Given the description of an element on the screen output the (x, y) to click on. 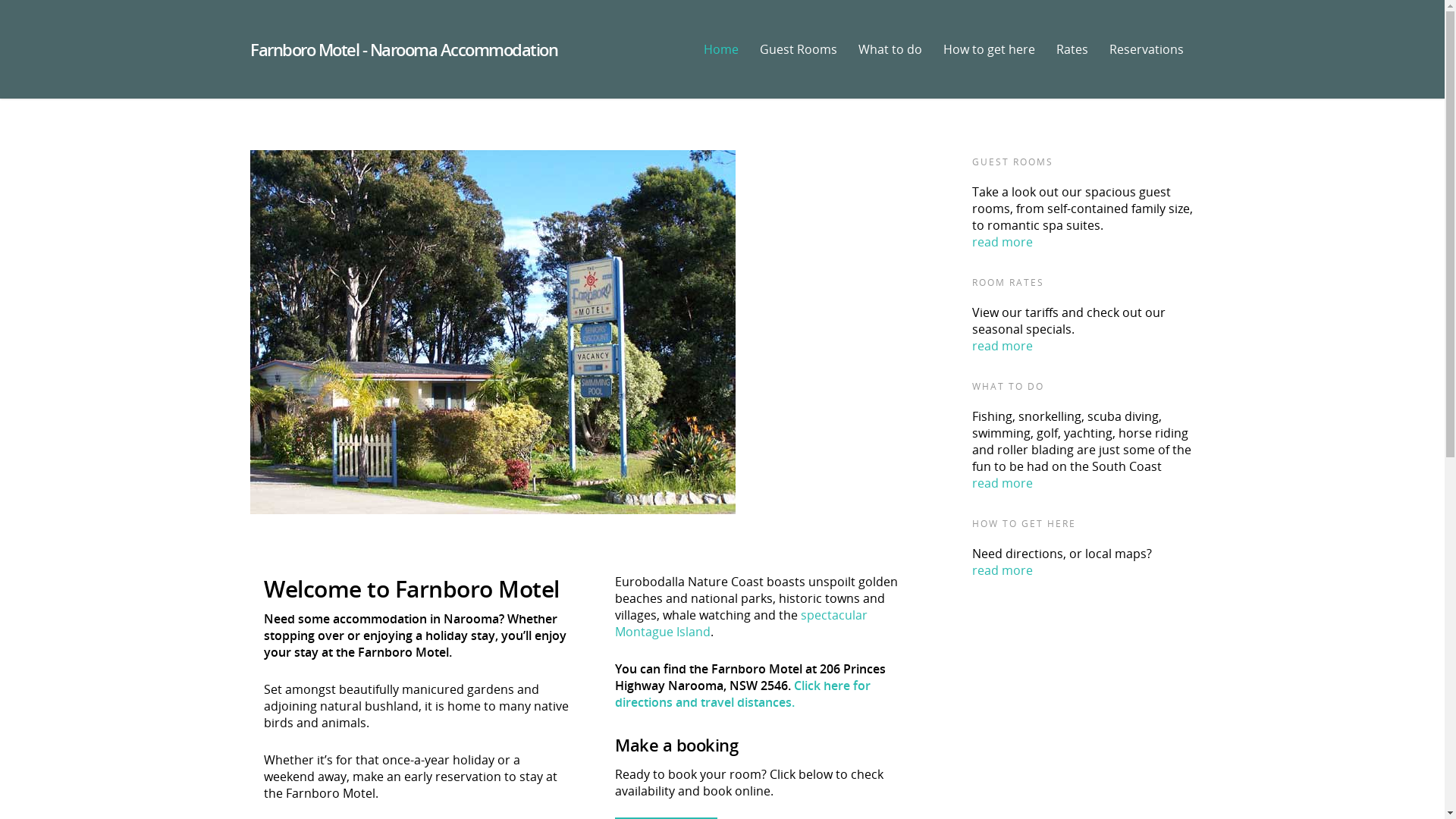
Rates Element type: text (1072, 67)
How to get here Element type: text (988, 67)
Reservations Element type: text (1146, 67)
Home Element type: text (720, 67)
What to do Element type: text (889, 67)
Farnboro Motel - Narooma Accommodation Element type: text (403, 48)
Narooma Accommodation - Farnboro Motel Element type: hover (492, 332)
Guest Rooms Element type: text (798, 67)
read more Element type: text (1002, 482)
read more Element type: text (1002, 241)
read more Element type: text (1002, 345)
read more Element type: text (1002, 569)
Click here for directions and travel distances. Element type: text (742, 693)
spectacular Montague Island Element type: text (741, 623)
